Given the description of an element on the screen output the (x, y) to click on. 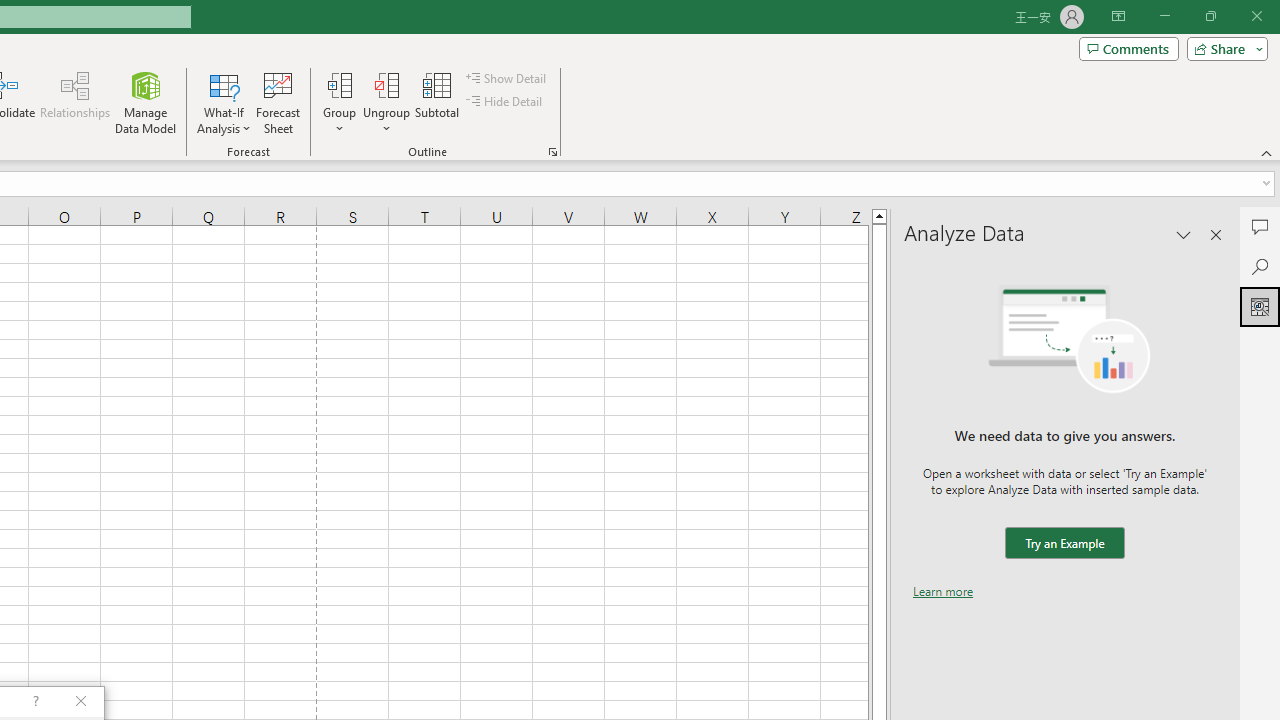
Learn more (943, 591)
We need data to give you answers. Try an Example (1064, 543)
